Given the description of an element on the screen output the (x, y) to click on. 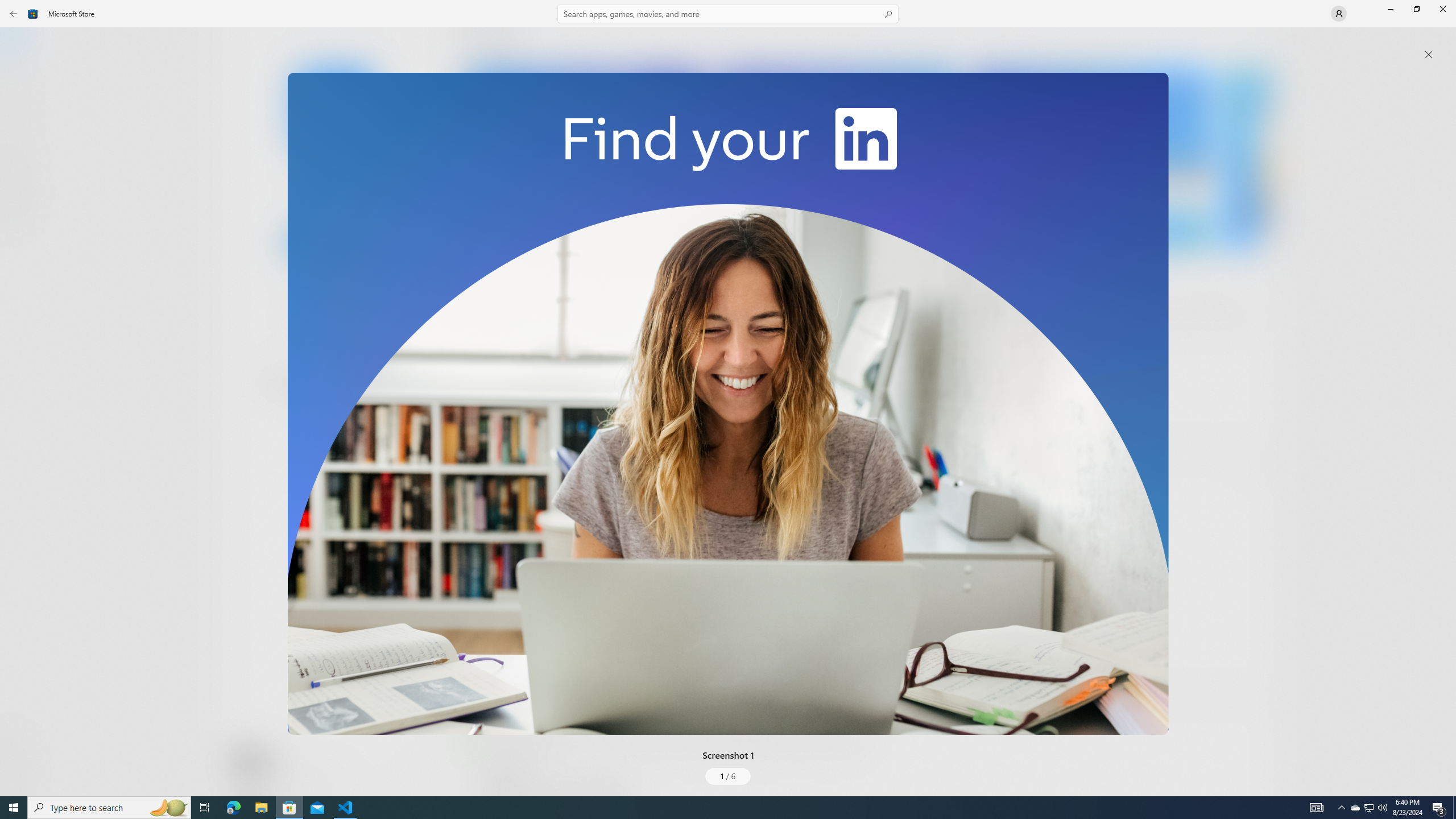
LinkedIn (332, 189)
Screenshot 2 (836, 158)
See all (1253, 41)
AutomationID: NavigationControl (728, 398)
Back (13, 13)
Share (424, 769)
close popup window (1428, 54)
Social (329, 423)
3.9 stars. Click to skip to ratings and reviews (307, 315)
